Given the description of an element on the screen output the (x, y) to click on. 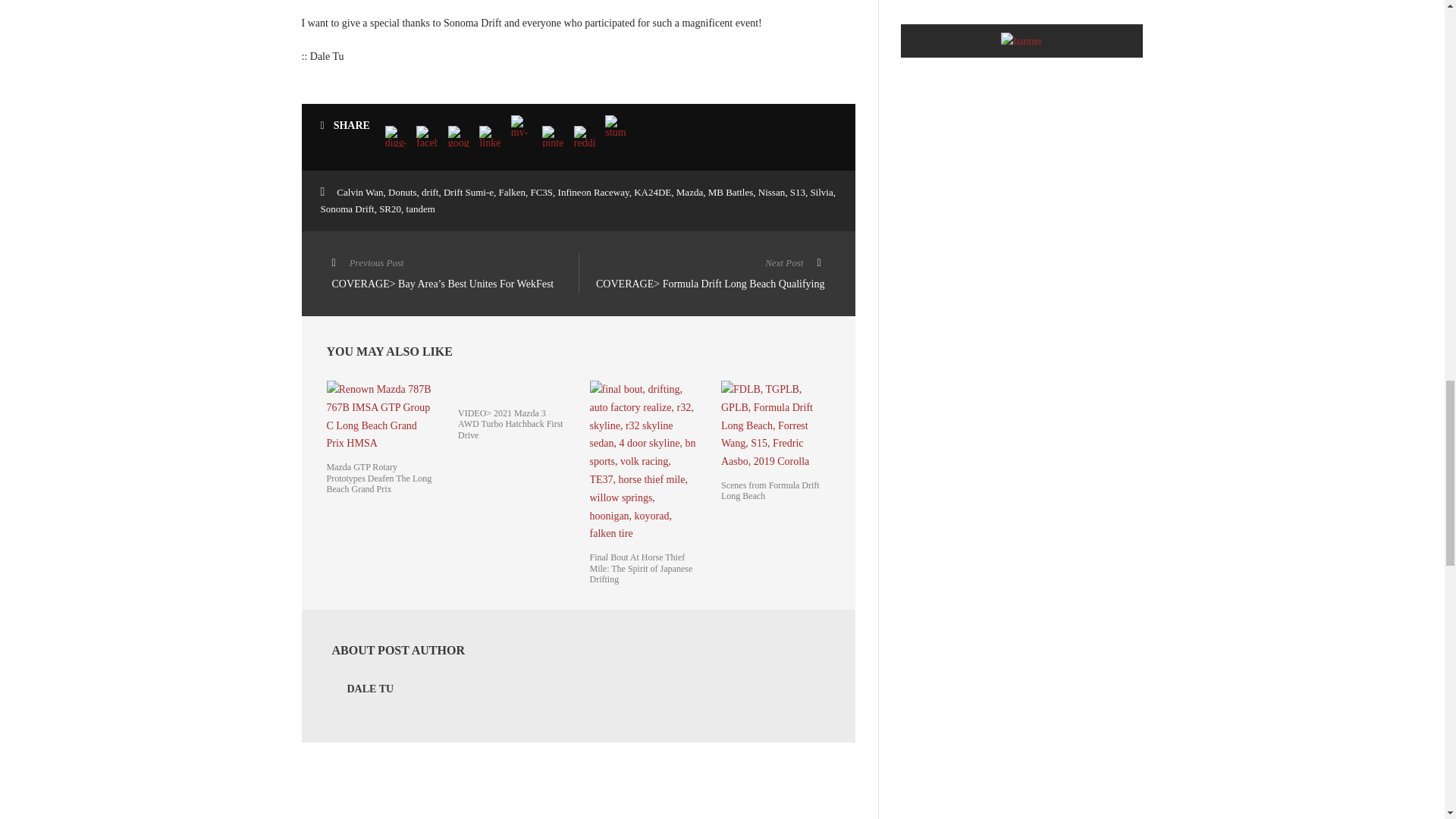
FC3S (541, 192)
Donuts (402, 192)
Calvin Wan (359, 192)
Falken (512, 192)
Posts by Dale Tu (370, 688)
Drift Sumi-e (468, 192)
drift (430, 192)
Infineon Raceway (592, 192)
KA24DE (652, 192)
